Given the description of an element on the screen output the (x, y) to click on. 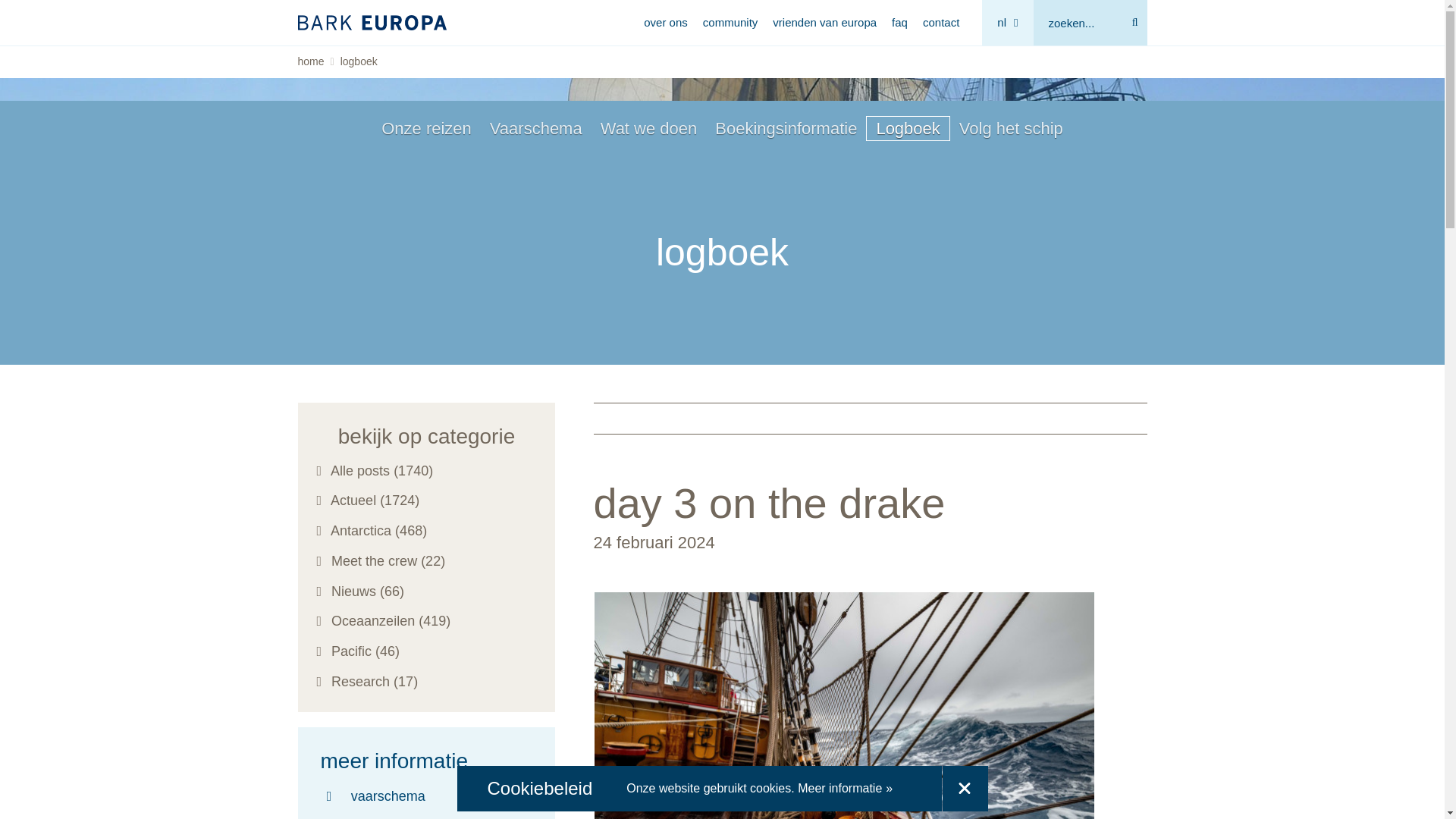
Wat we doen (648, 127)
Onze reizen (426, 127)
Volg het schip (1010, 127)
Vaarschema (535, 127)
Logboek (907, 127)
Boekingsinformatie (786, 127)
